Given the description of an element on the screen output the (x, y) to click on. 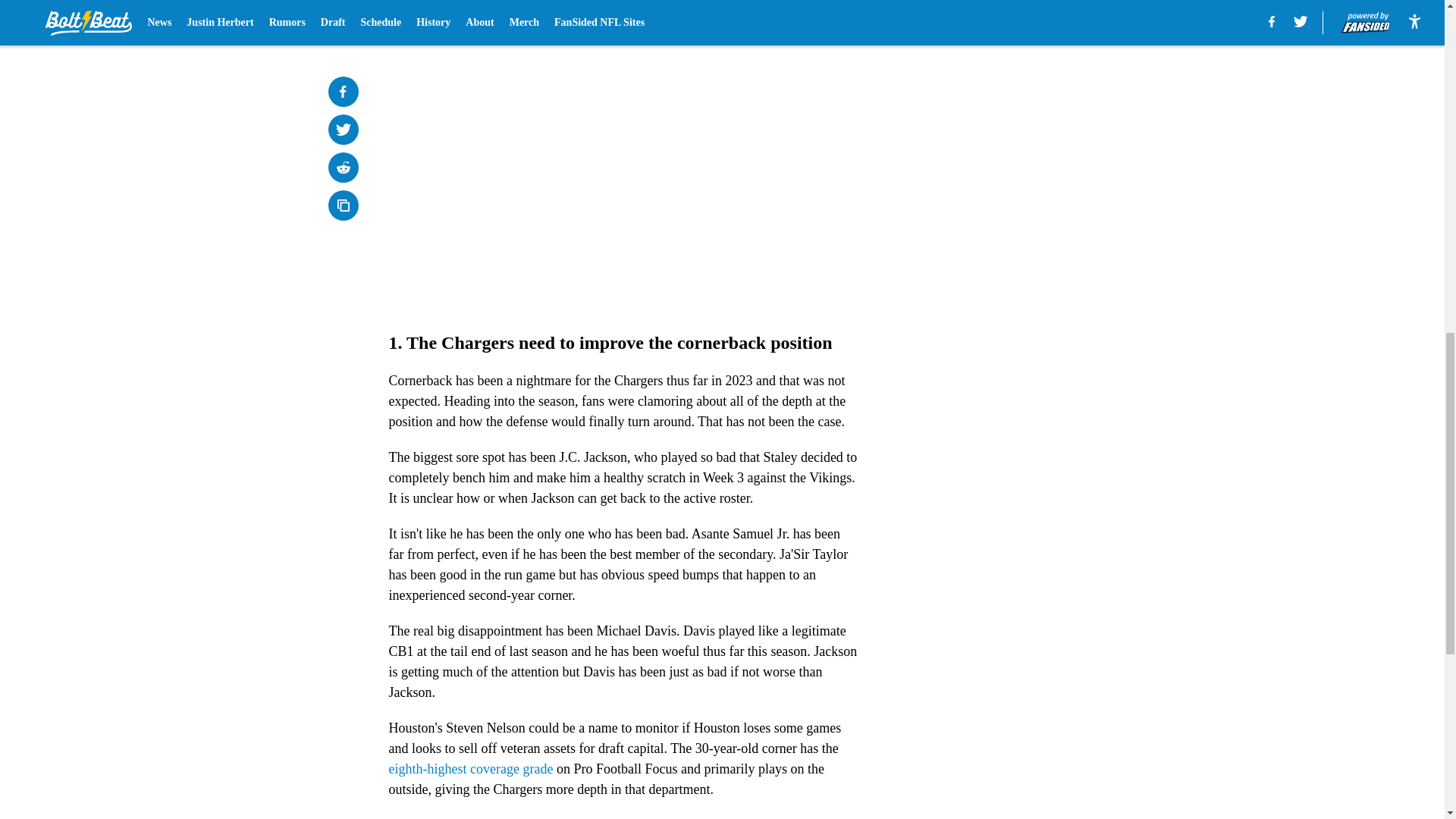
Next (813, 20)
eighth-highest coverage grade (470, 768)
Prev (433, 20)
